Given the description of an element on the screen output the (x, y) to click on. 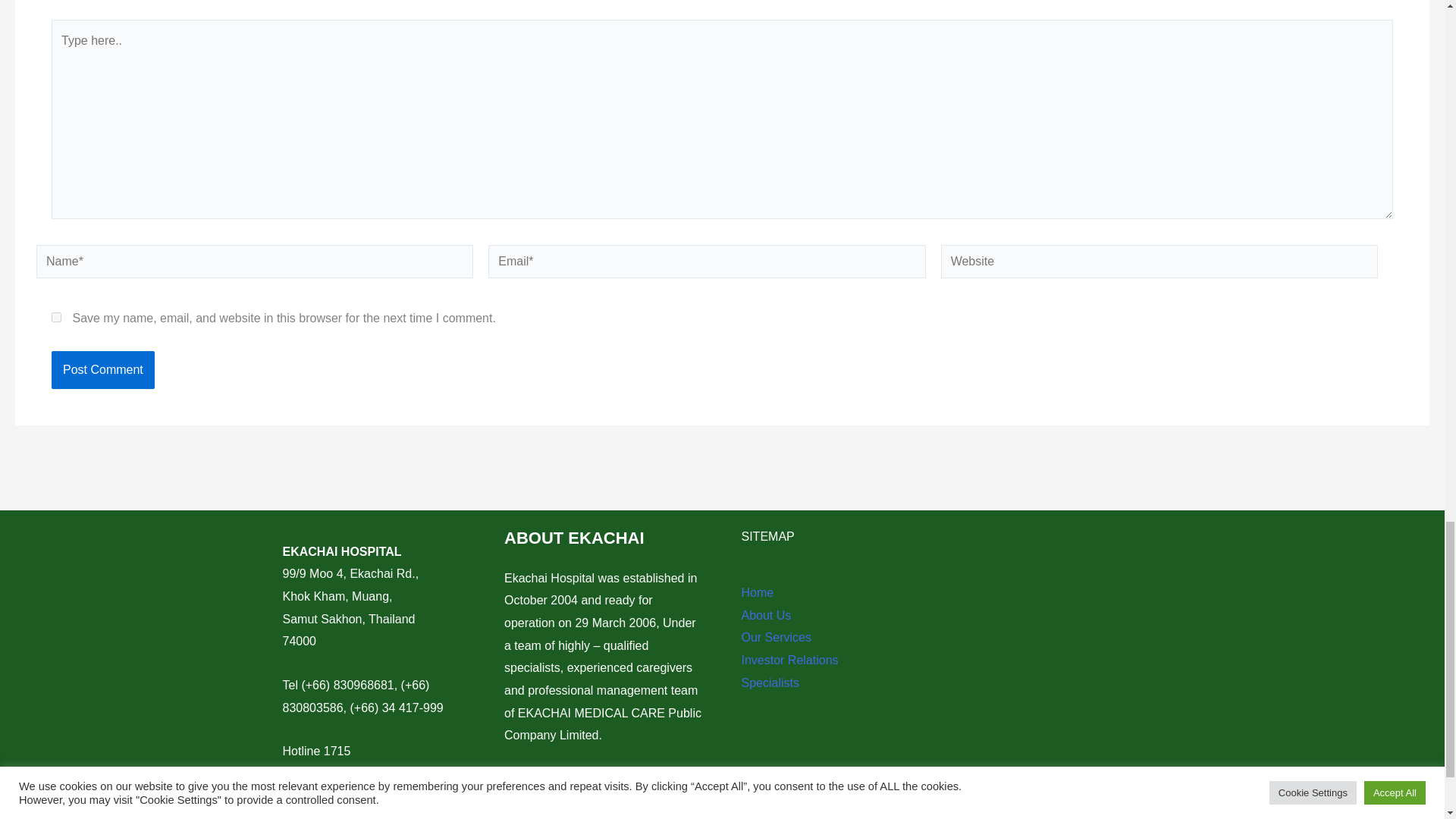
Post Comment (102, 370)
Post Comment (102, 370)
yes (55, 317)
